Given the description of an element on the screen output the (x, y) to click on. 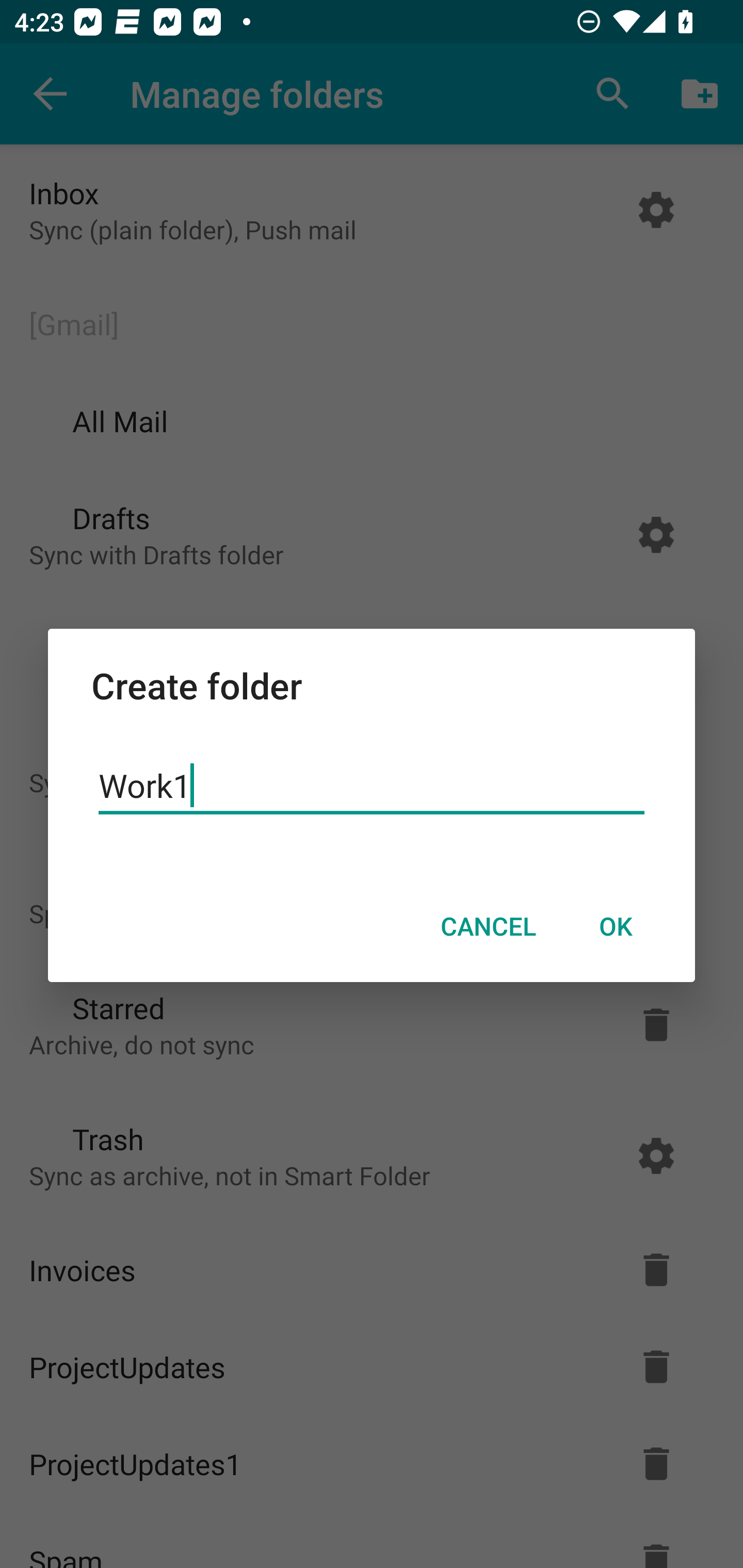
Work1 (371, 785)
CANCEL (488, 926)
OK (615, 926)
